Given the description of an element on the screen output the (x, y) to click on. 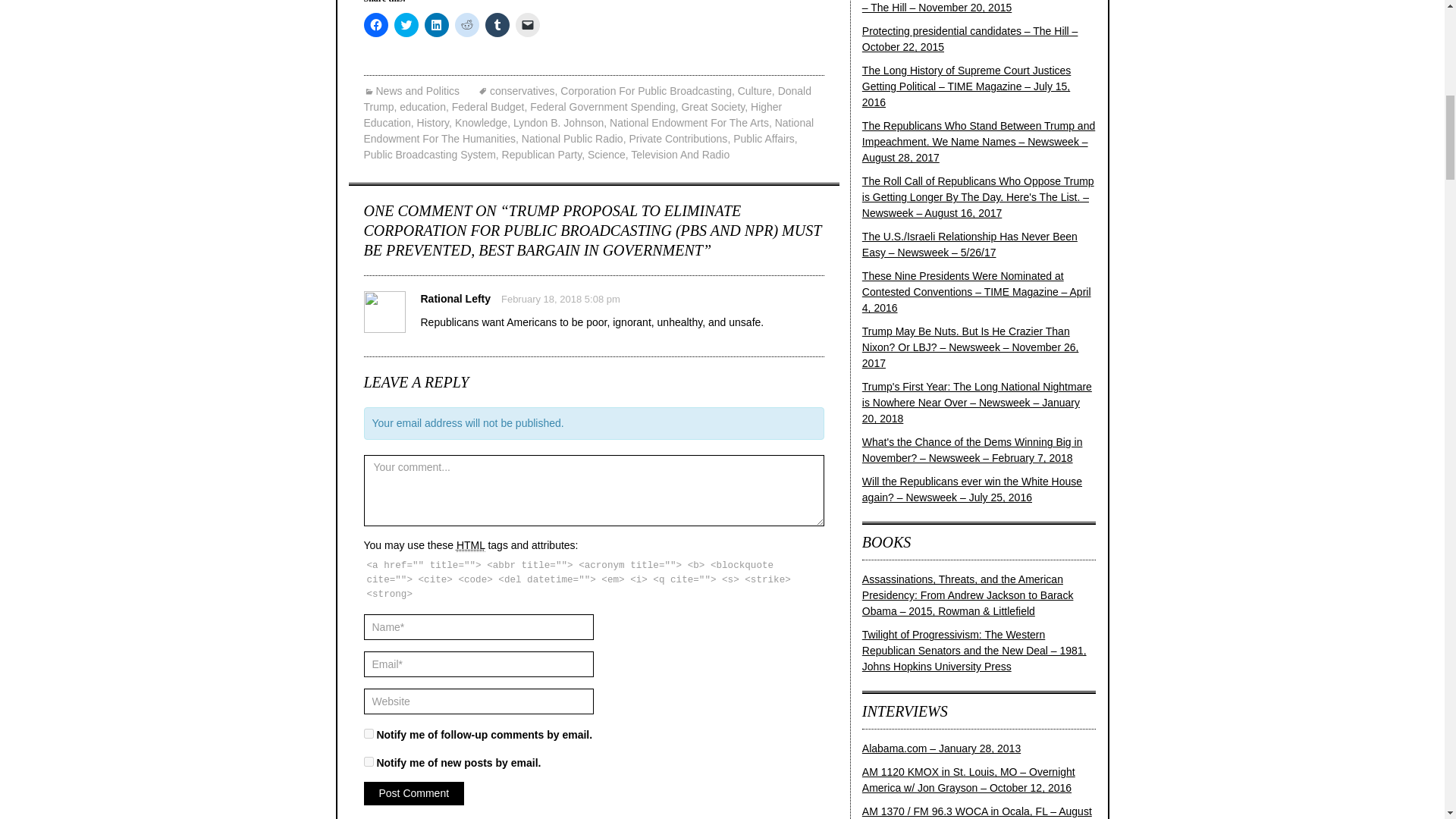
subscribe (369, 761)
Post Comment (414, 793)
Donald Trump (588, 99)
Federal Budget (487, 106)
Post Comment (414, 793)
Click to share on Tumblr (496, 24)
Private Contributions (677, 138)
Click to share on Reddit (466, 24)
education (421, 106)
Public Affairs (763, 138)
National Public Radio (572, 138)
Culture (754, 91)
Higher Education (573, 114)
conservatives (515, 91)
Television And Radio (679, 154)
